Given the description of an element on the screen output the (x, y) to click on. 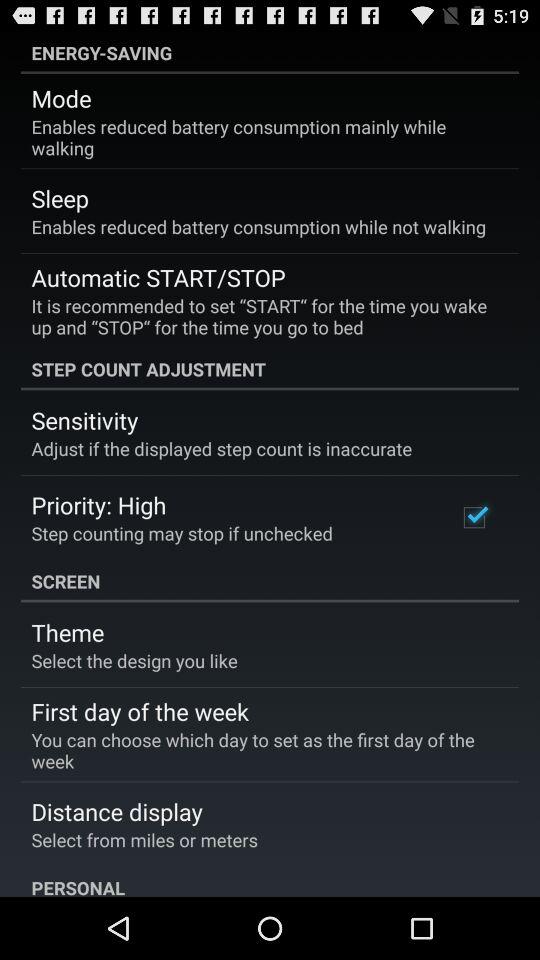
jump to personal (270, 881)
